Given the description of an element on the screen output the (x, y) to click on. 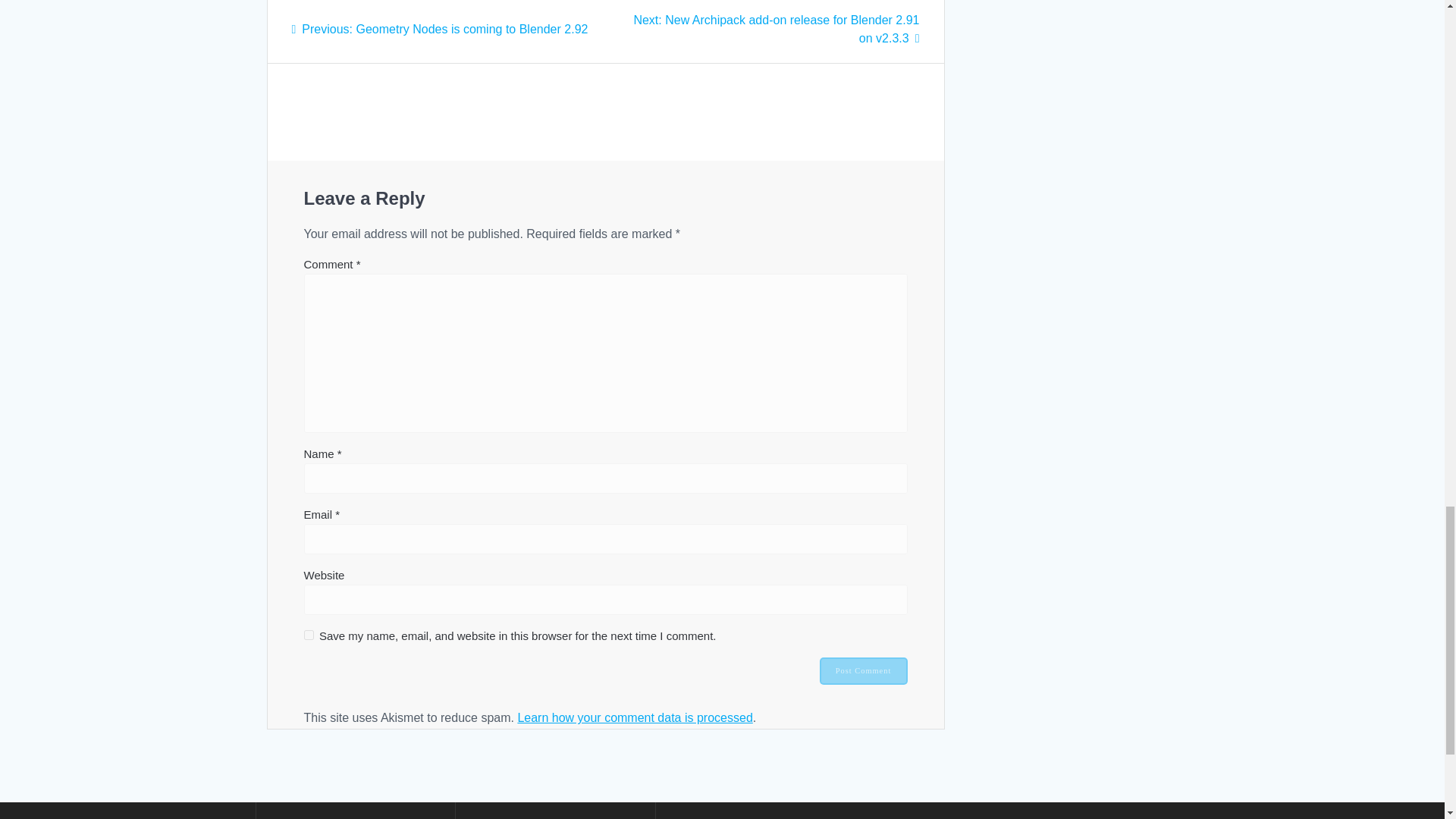
Post Comment (863, 670)
yes (307, 634)
